Given the description of an element on the screen output the (x, y) to click on. 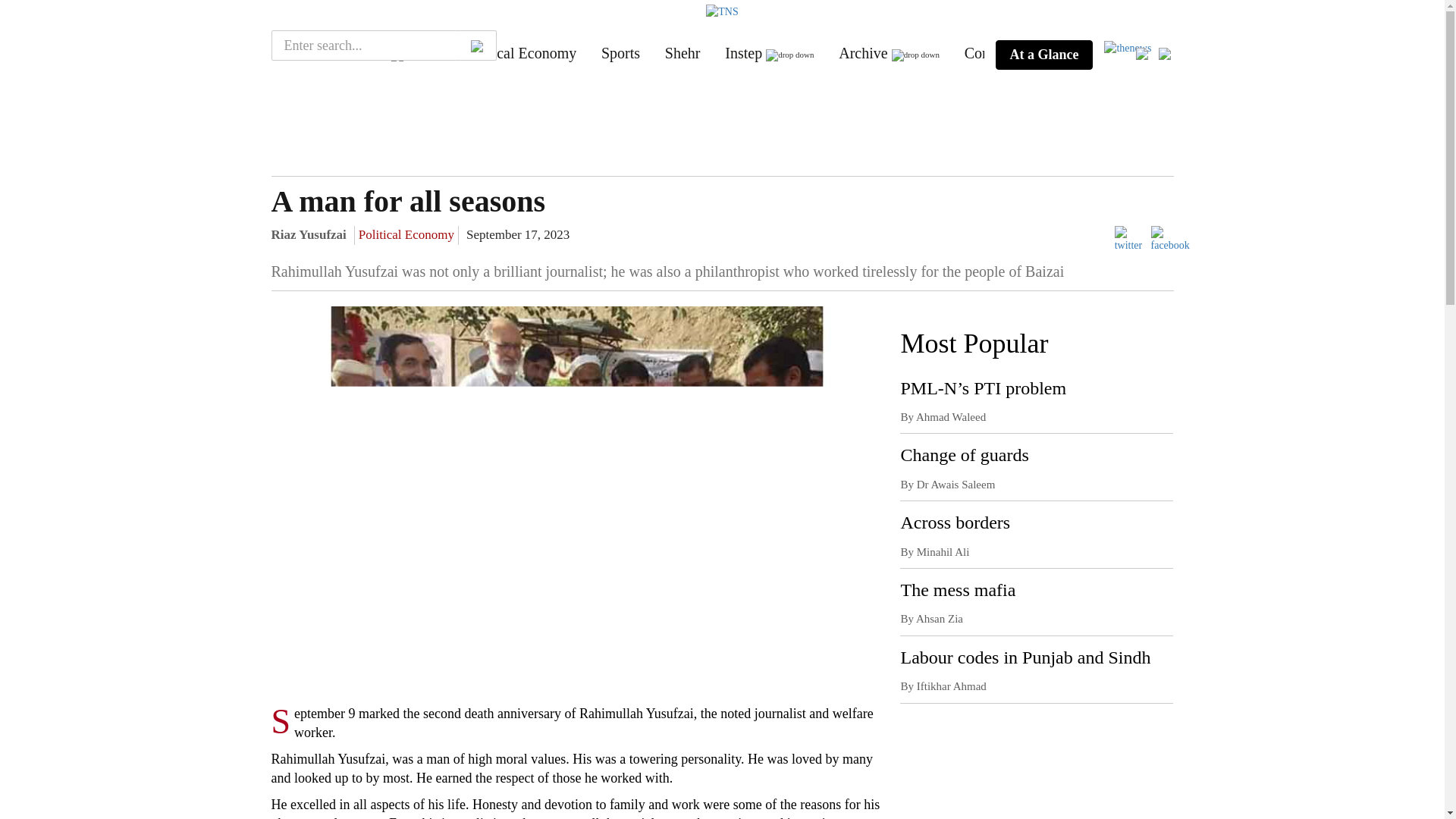
Encore (365, 53)
Home (300, 53)
Change of guards (963, 455)
By Ahmad Waleed (942, 417)
Political Economy (520, 53)
At a Glance (1043, 55)
Sports (620, 53)
Shehr (682, 53)
Political-Economy (520, 53)
Sports (620, 53)
Riaz Yusufzai (308, 234)
Instep (743, 53)
Political Economy (406, 234)
Encore (365, 53)
Archive (862, 53)
